Given the description of an element on the screen output the (x, y) to click on. 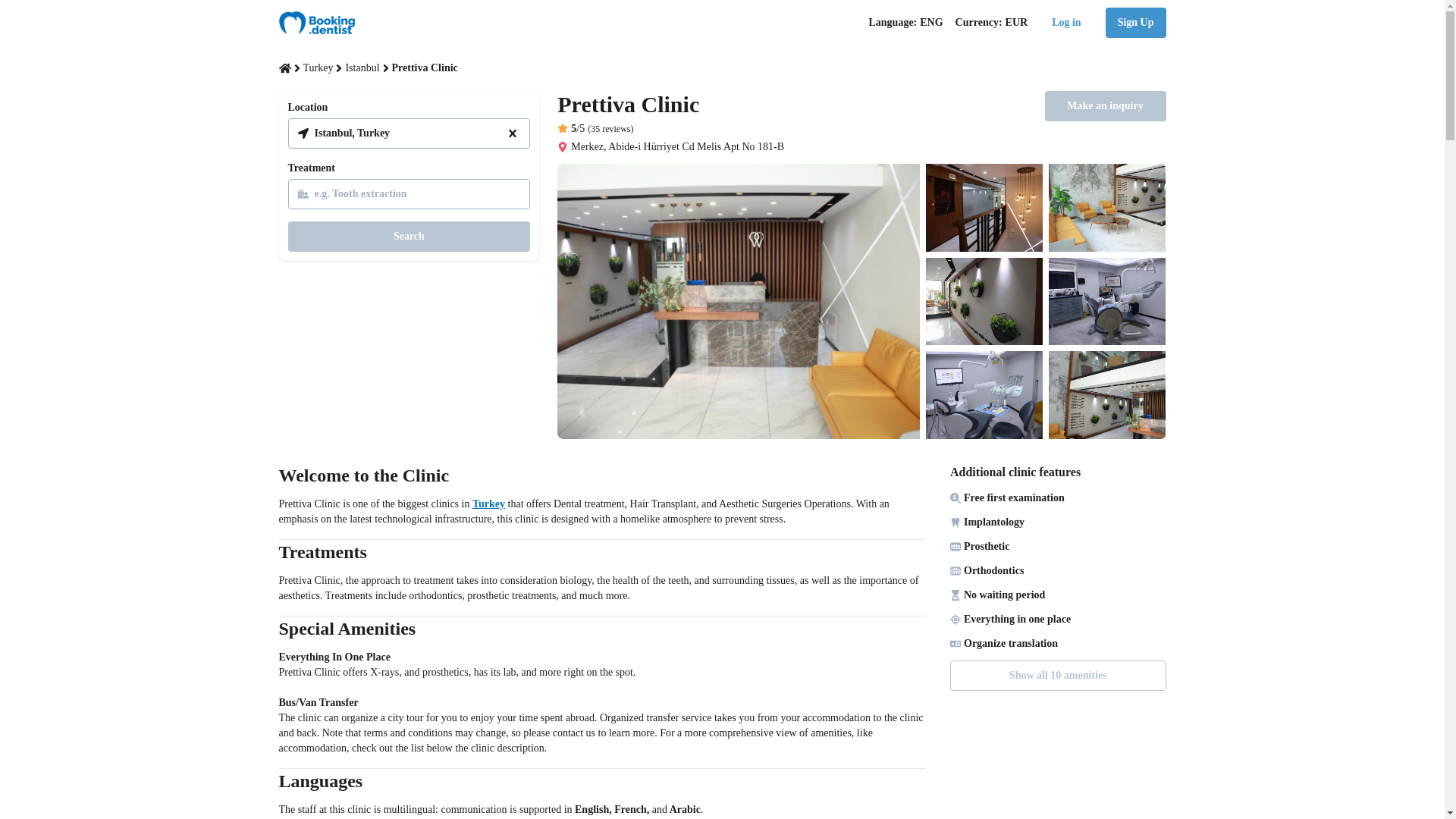
Log in (1066, 22)
Show all 10 amenities (1058, 675)
Prettiva Clinic (670, 103)
Turkey (317, 68)
Make an inquiry (1105, 105)
Sign Up (1135, 22)
Istanbul (361, 68)
Turkey (488, 503)
Search (409, 236)
